Given the description of an element on the screen output the (x, y) to click on. 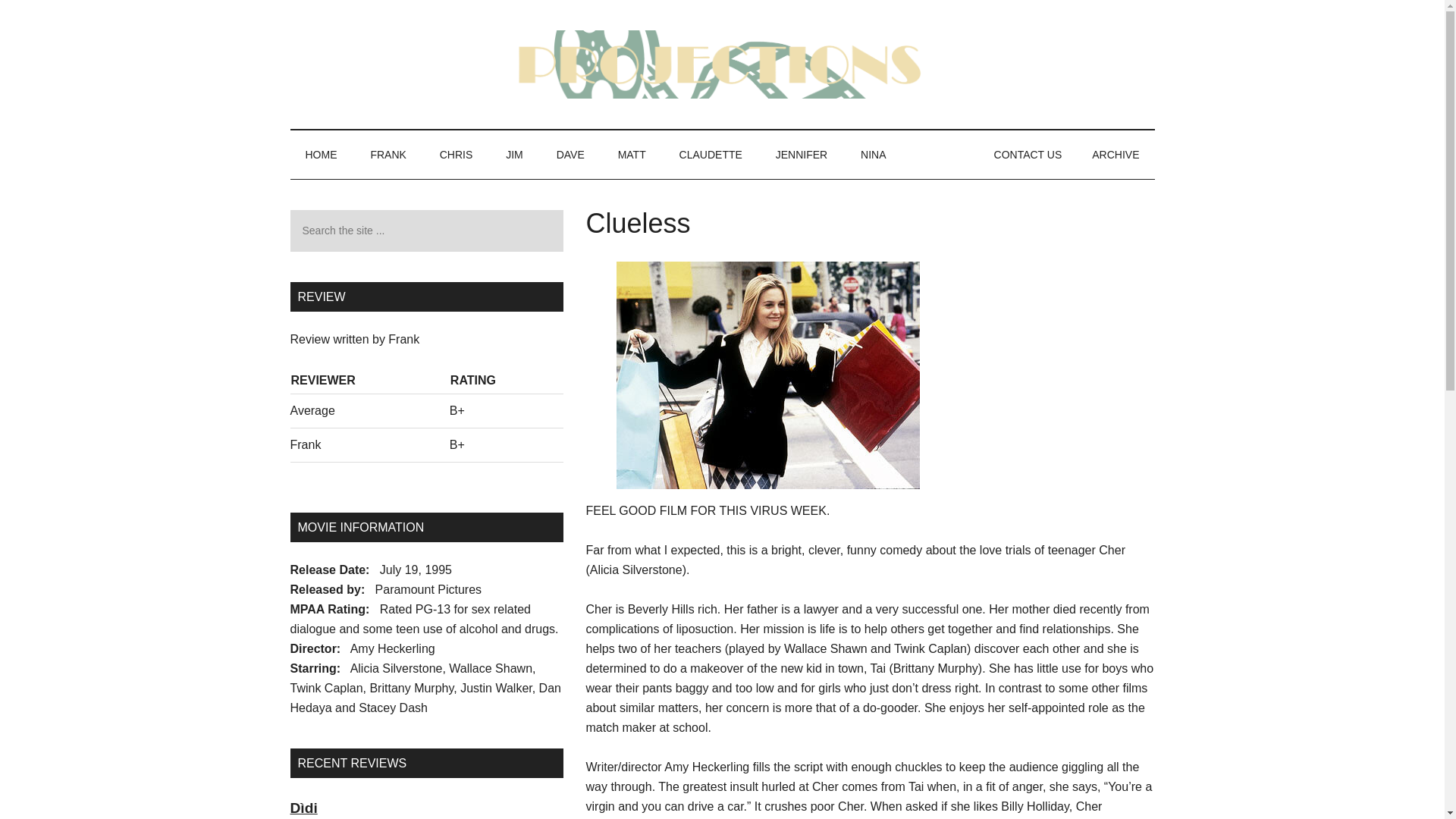
FRANK (387, 154)
JIM (514, 154)
DAVE (570, 154)
HOME (320, 154)
MATT (631, 154)
CHRIS (456, 154)
CLAUDETTE (710, 154)
JENNIFER (801, 154)
Projections (721, 64)
